Given the description of an element on the screen output the (x, y) to click on. 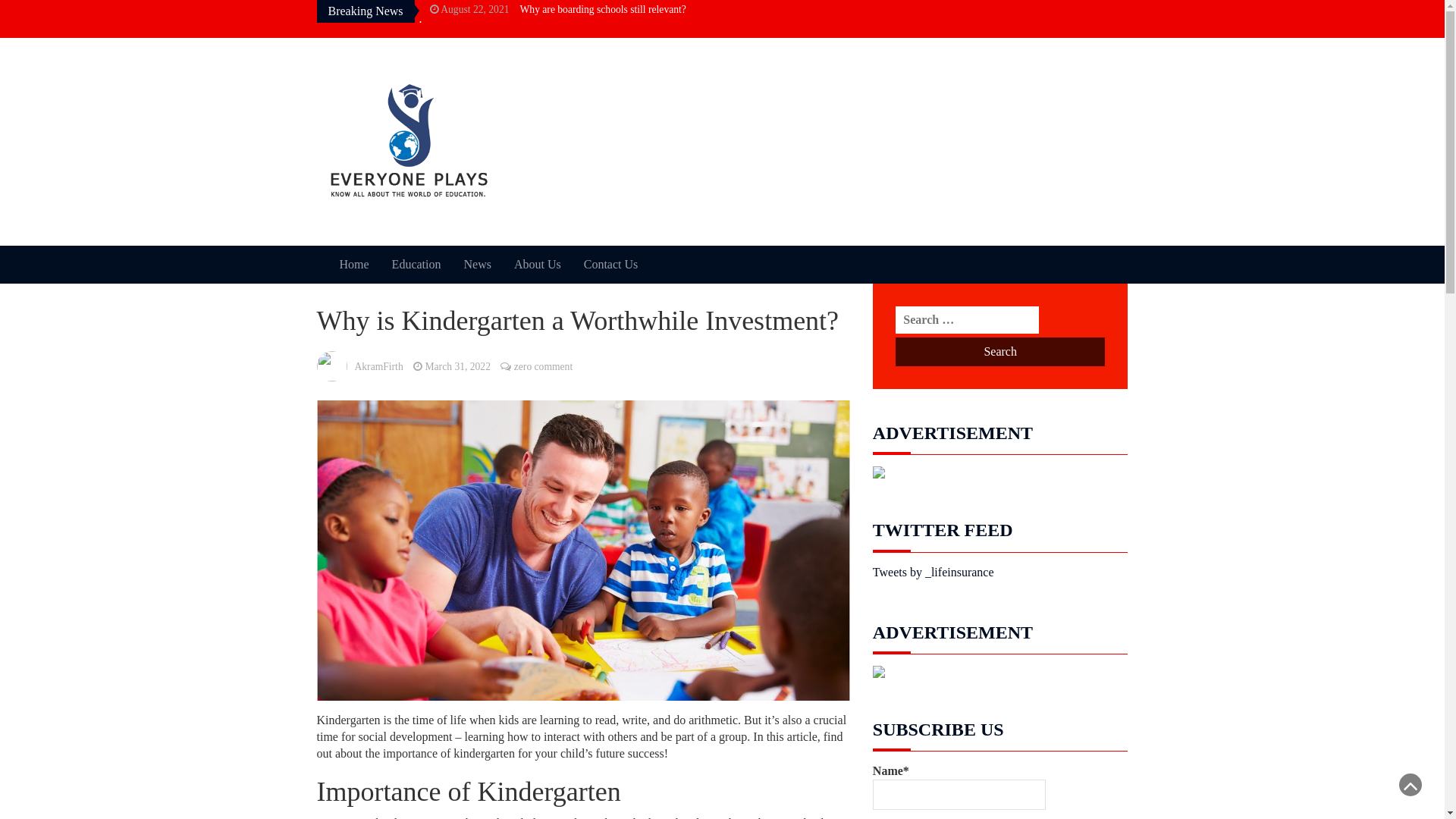
About Us Element type: text (537, 264)
Contact Us Element type: text (610, 264)
Home Element type: text (353, 264)
Education Element type: text (416, 264)
AkramFirth Element type: text (378, 366)
News Element type: text (476, 264)
Why are boarding schools still relevant? Element type: text (603, 9)
Search Element type: text (1000, 351)
March 31, 2022 Element type: text (456, 366)
zero comment Element type: text (543, 366)
Tweets by _lifeinsurance Element type: text (933, 571)
